Given the description of an element on the screen output the (x, y) to click on. 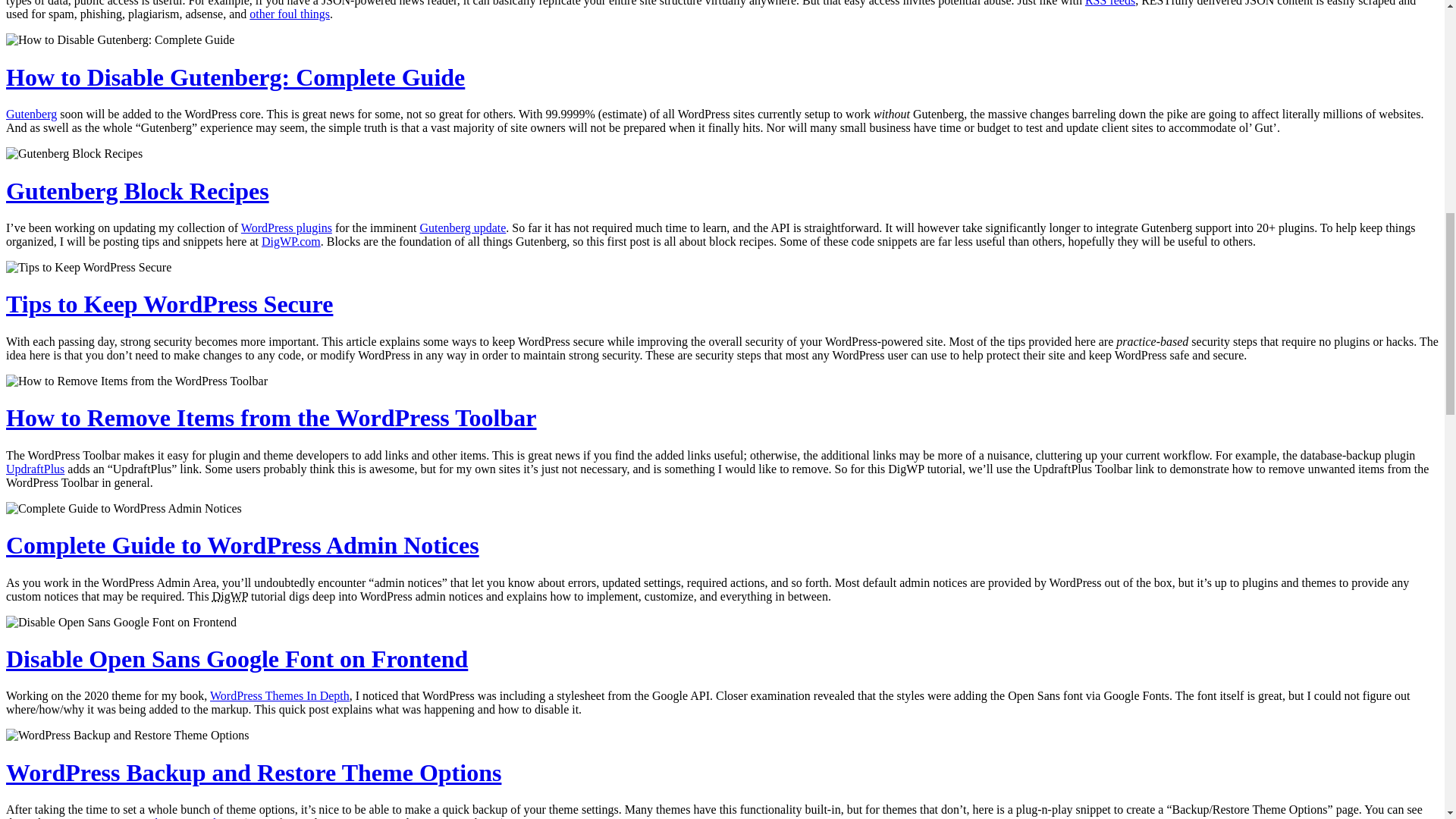
UpdraftPlus (34, 468)
Gutenberg Block Recipes (137, 190)
How to Deal with Content Scrapers (1109, 3)
RSS feeds (1109, 3)
WordPress plugins (286, 227)
WordPress Themes In Depth (279, 695)
Tips to Keep WordPress Secure (169, 303)
Gutenberg update (462, 227)
WordPress Backup and Restore Theme Options (252, 772)
How to Remove Items from the WordPress Toolbar (271, 417)
